Given the description of an element on the screen output the (x, y) to click on. 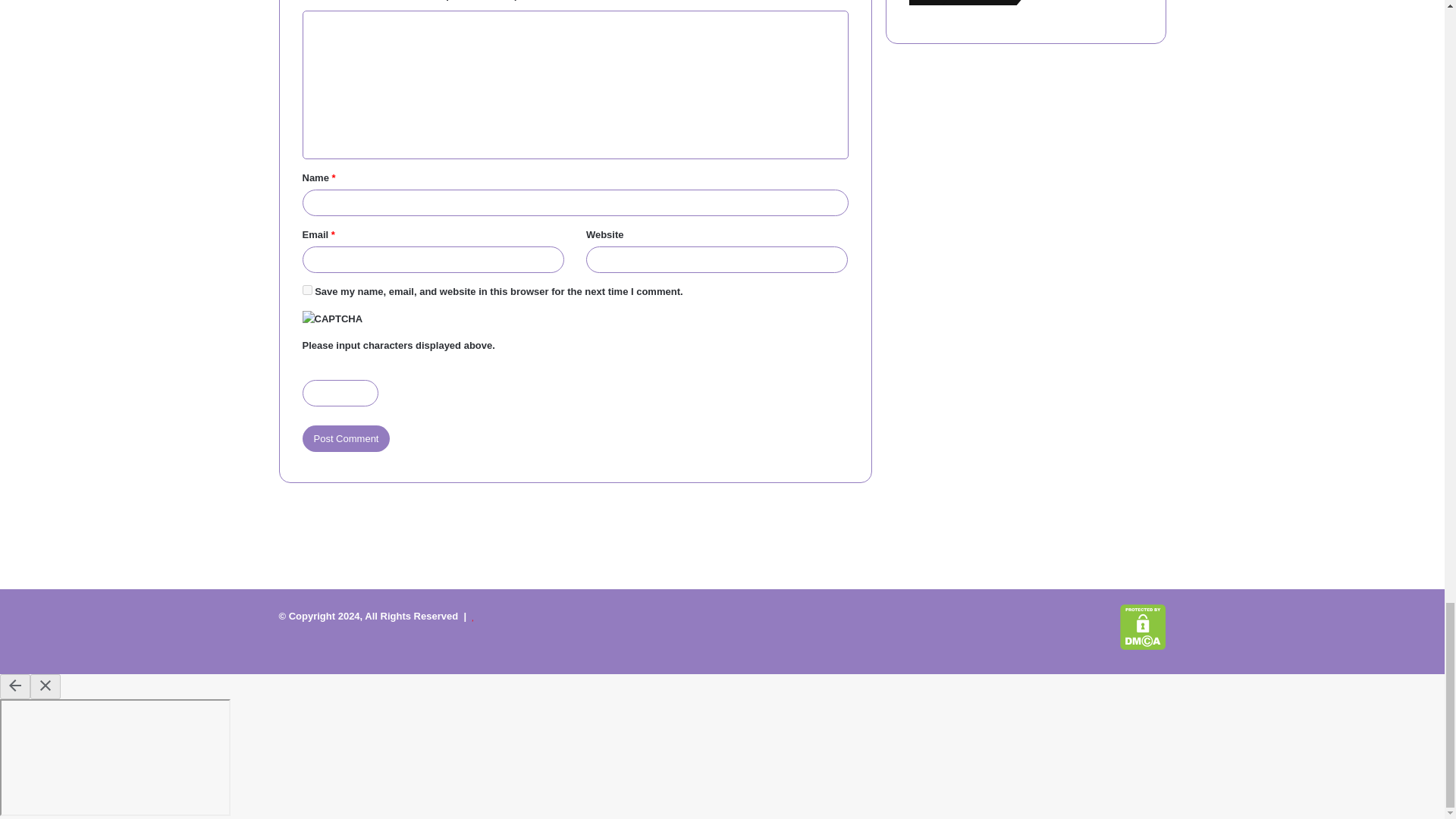
yes (306, 289)
Post Comment (345, 438)
